Given the description of an element on the screen output the (x, y) to click on. 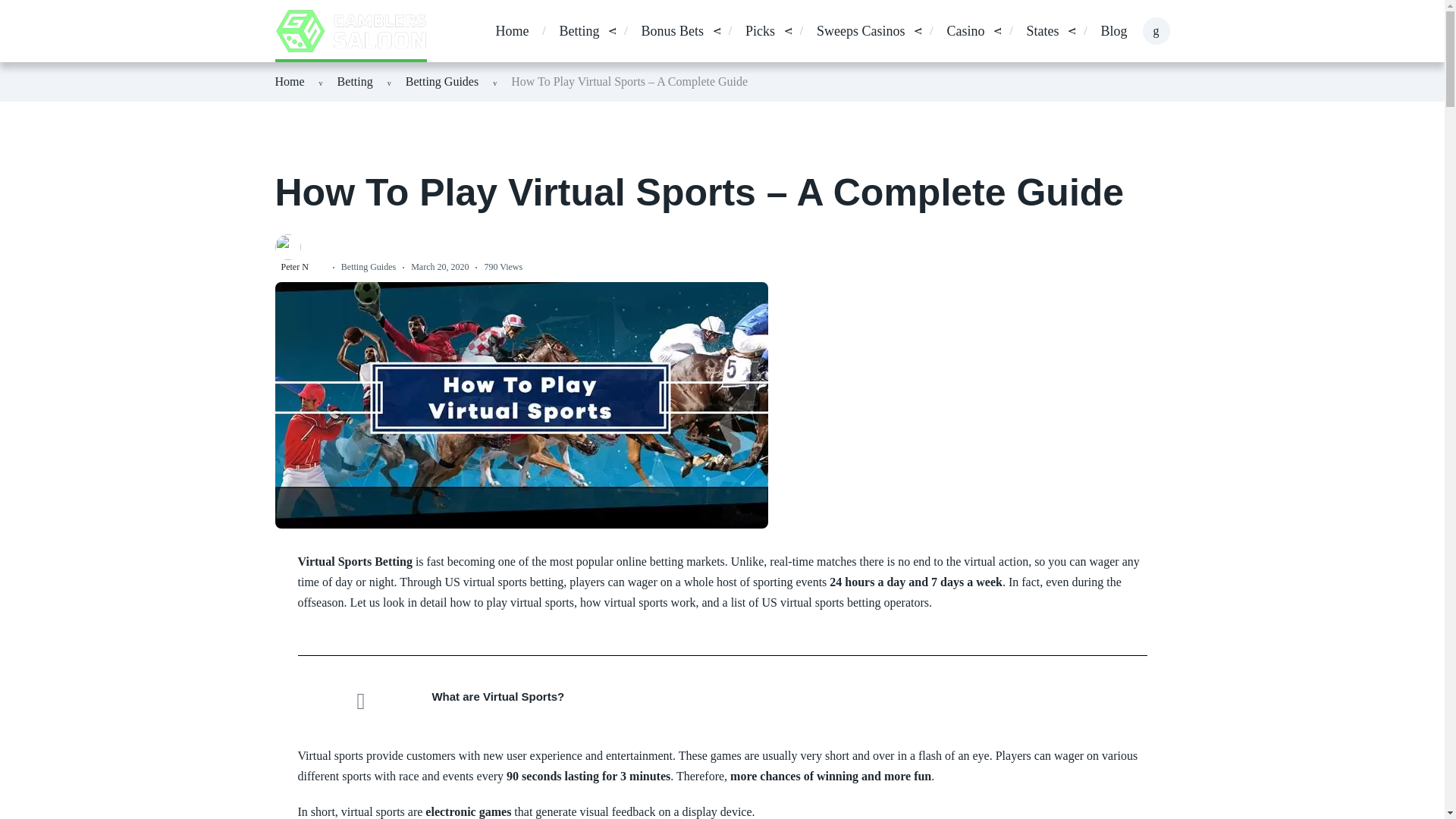
Betting Guides (442, 81)
Casino (965, 31)
Sweeps Casinos (860, 31)
Home (289, 81)
Picks (759, 31)
Betting (578, 31)
Betting (354, 81)
Home (511, 31)
Bonus Bets (671, 31)
